Given the description of an element on the screen output the (x, y) to click on. 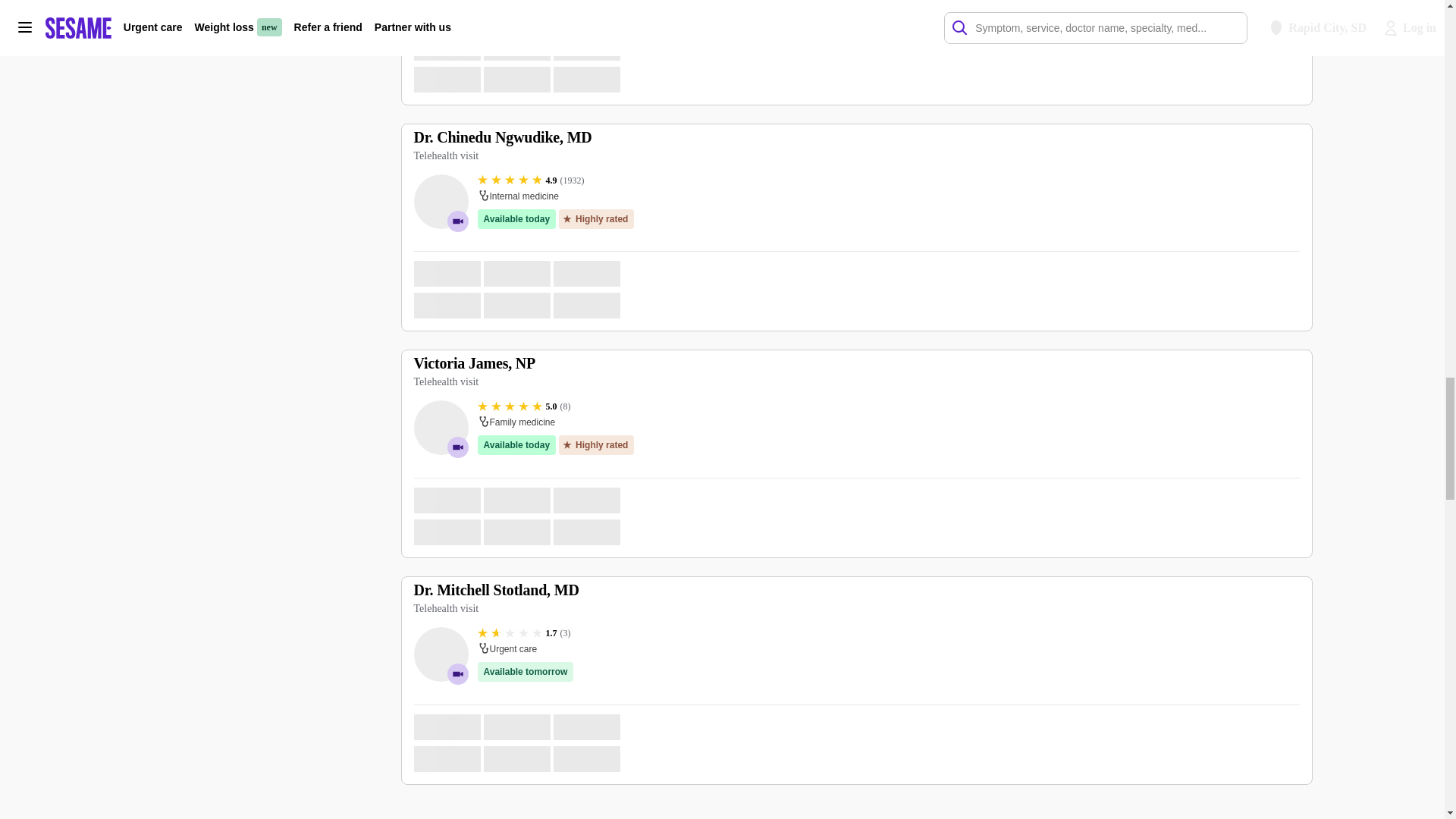
This provider has an overall rating of 5.0 out of 5 stars. (523, 406)
This provider has an overall rating of 1.7 out of 5 stars. (523, 633)
This provider has an overall rating of 4.9 out of 5 stars. (531, 180)
